Given the description of an element on the screen output the (x, y) to click on. 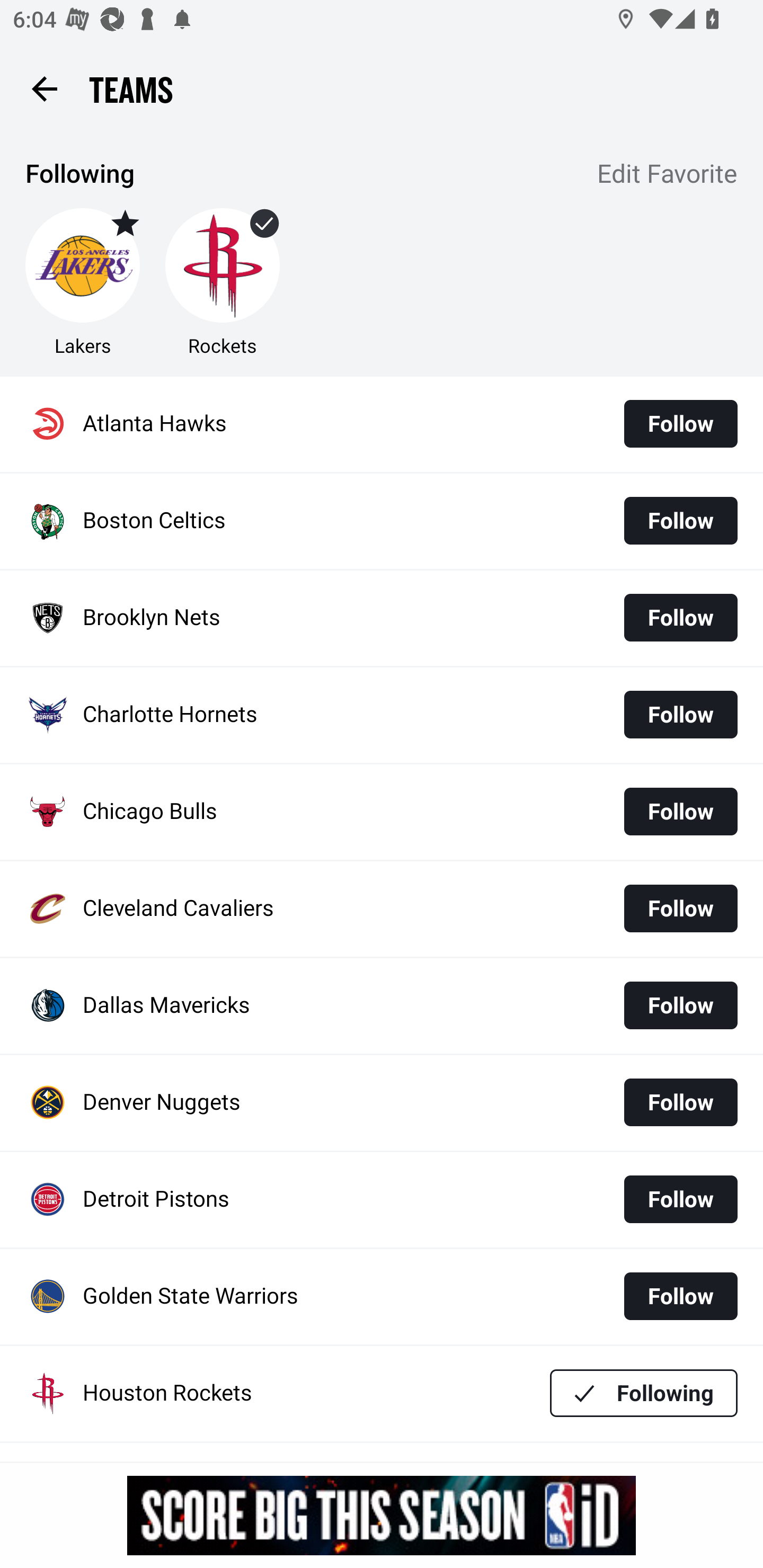
Back button (44, 88)
Edit Favorite (667, 175)
Atlanta Hawks Follow (381, 423)
Follow (680, 423)
Boston Celtics Follow (381, 521)
Follow (680, 520)
Brooklyn Nets Follow (381, 618)
Follow (680, 617)
Charlotte Hornets Follow (381, 714)
Follow (680, 713)
Chicago Bulls Follow (381, 812)
Follow (680, 811)
Cleveland Cavaliers Follow (381, 908)
Follow (680, 908)
Dallas Mavericks Follow (381, 1005)
Follow (680, 1005)
Denver Nuggets Follow (381, 1102)
Follow (680, 1101)
Detroit Pistons Follow (381, 1200)
Follow (680, 1199)
Golden State Warriors Follow (381, 1296)
Follow (680, 1295)
Houston Rockets Following (381, 1392)
Following (643, 1392)
g5nqqygr7owph (381, 1515)
